Given the description of an element on the screen output the (x, y) to click on. 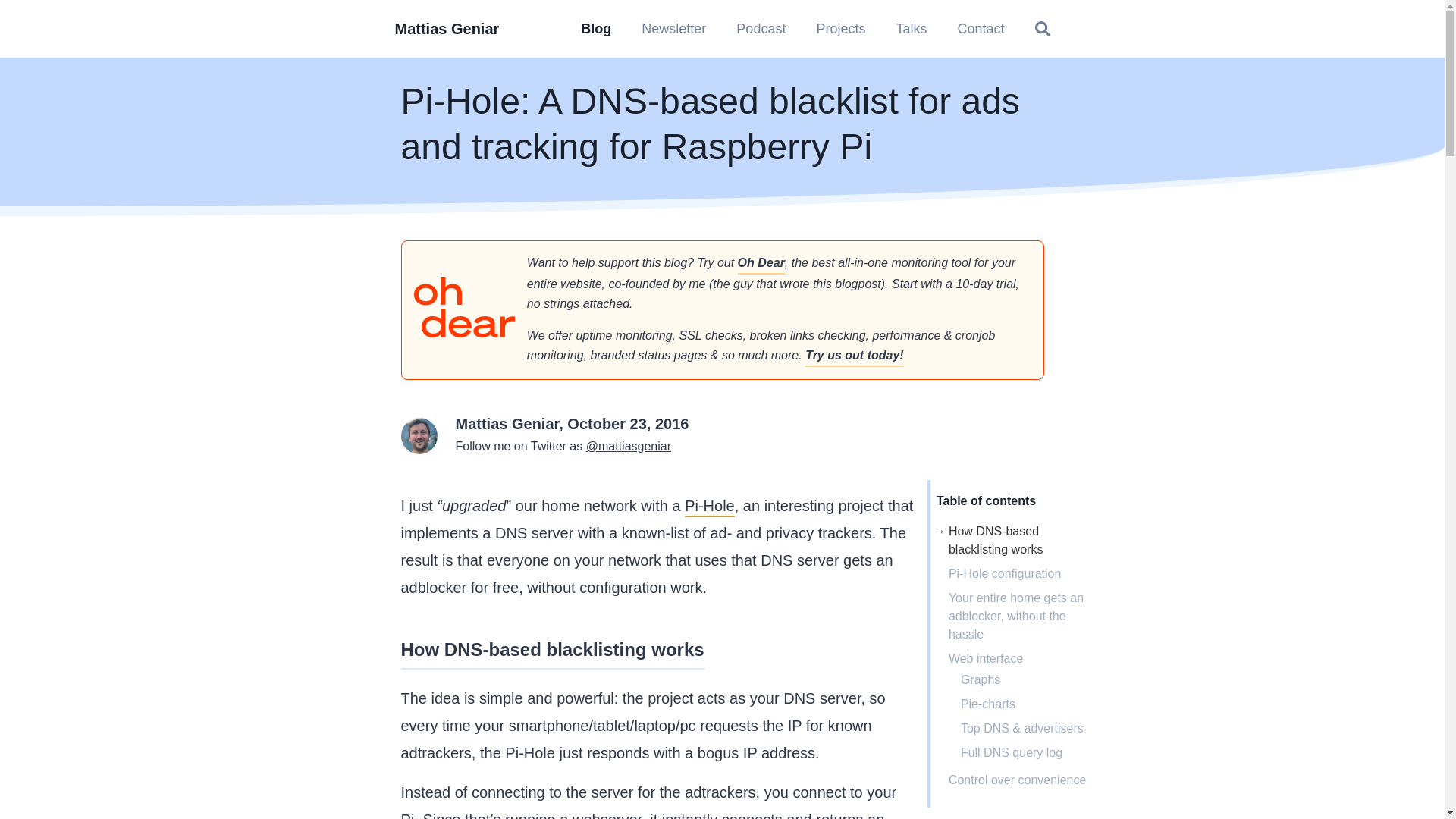
Graphs (980, 679)
Podcast (760, 28)
Pie-charts (987, 703)
Your entire home gets an adblocker, without the hassle (1016, 615)
Try us out today! (854, 355)
Full DNS query log (1011, 752)
Pi-Hole (709, 506)
Oh Dear (761, 263)
Contact (980, 28)
Newsletter (672, 28)
